Given the description of an element on the screen output the (x, y) to click on. 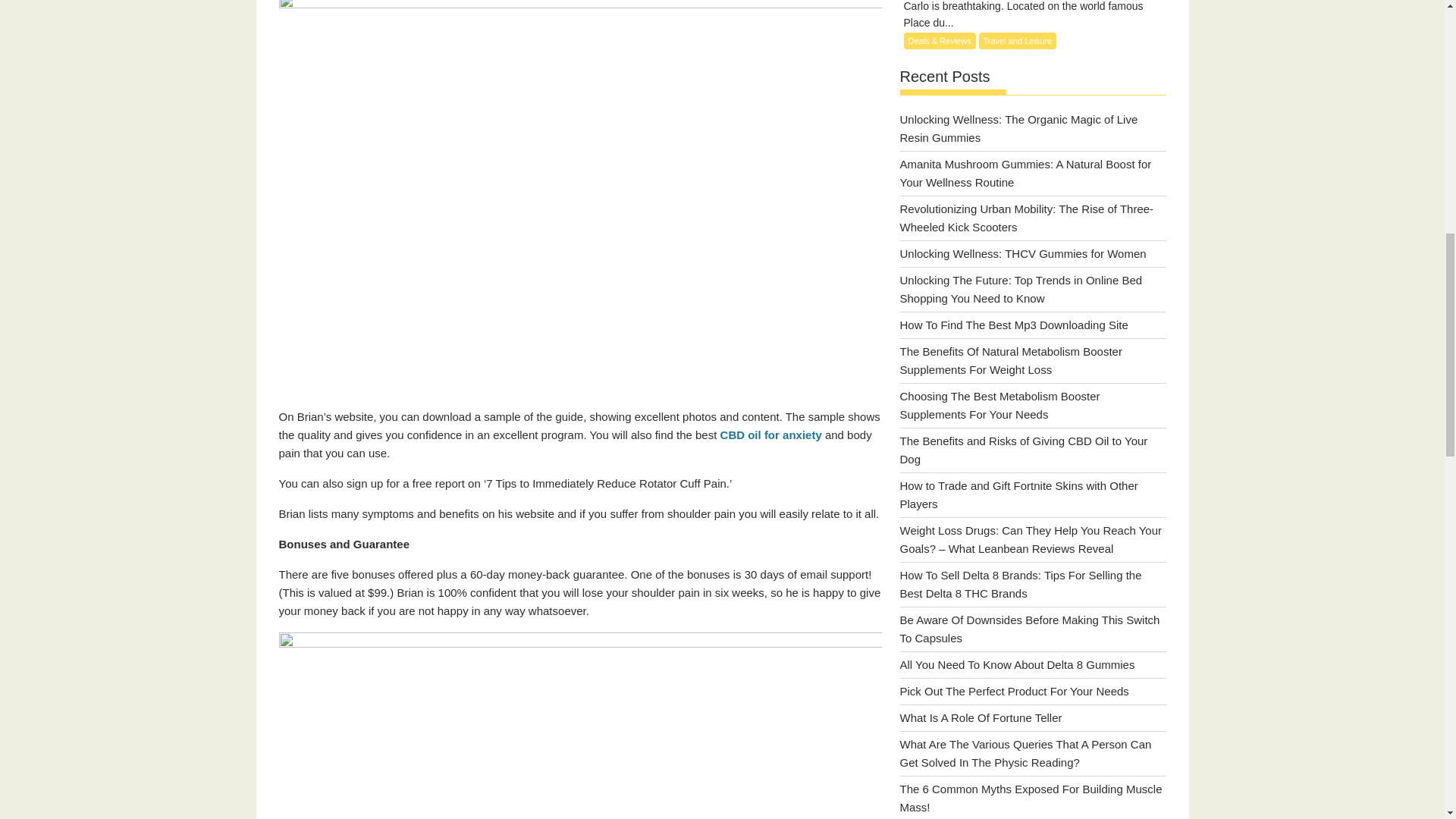
CBD oil for anxiety (772, 434)
